Given the description of an element on the screen output the (x, y) to click on. 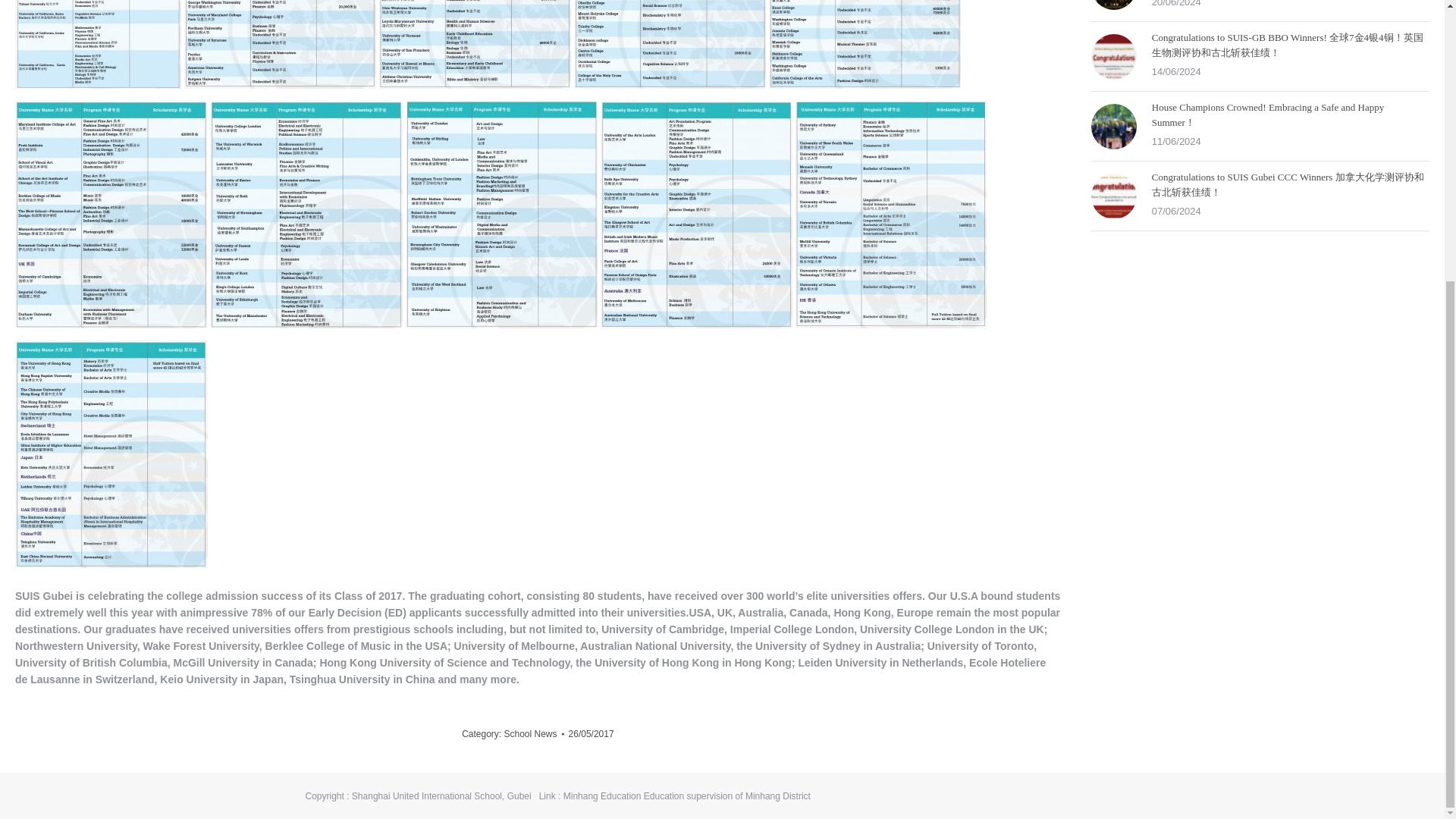
pm1:55 (591, 733)
